Given the description of an element on the screen output the (x, y) to click on. 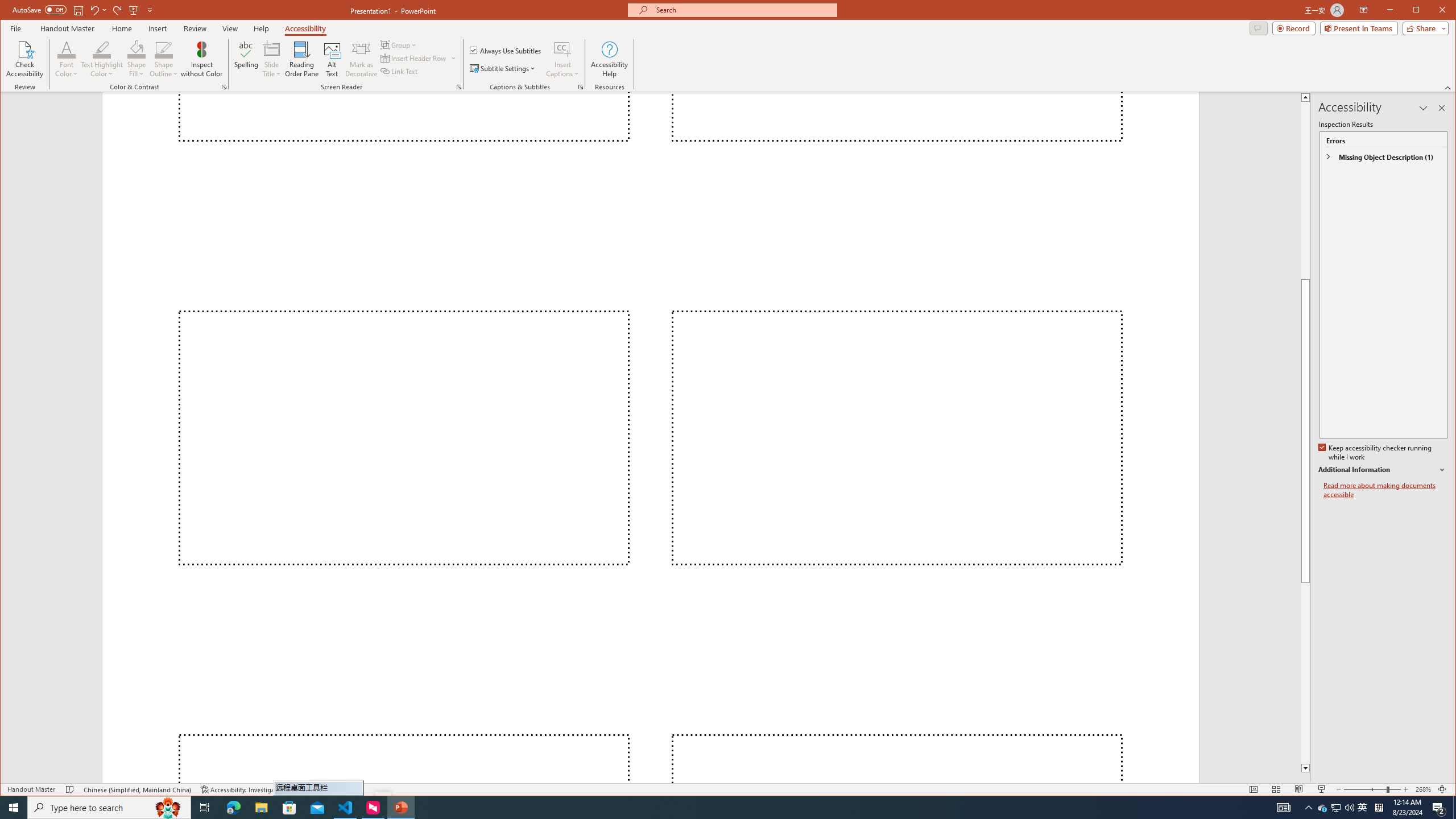
Mark as Decorative (360, 59)
Search highlights icon opens search home window (167, 807)
Action Center, 2 new notifications (1335, 807)
Insert Header Row (1439, 807)
Q2790: 100% (418, 57)
